Given the description of an element on the screen output the (x, y) to click on. 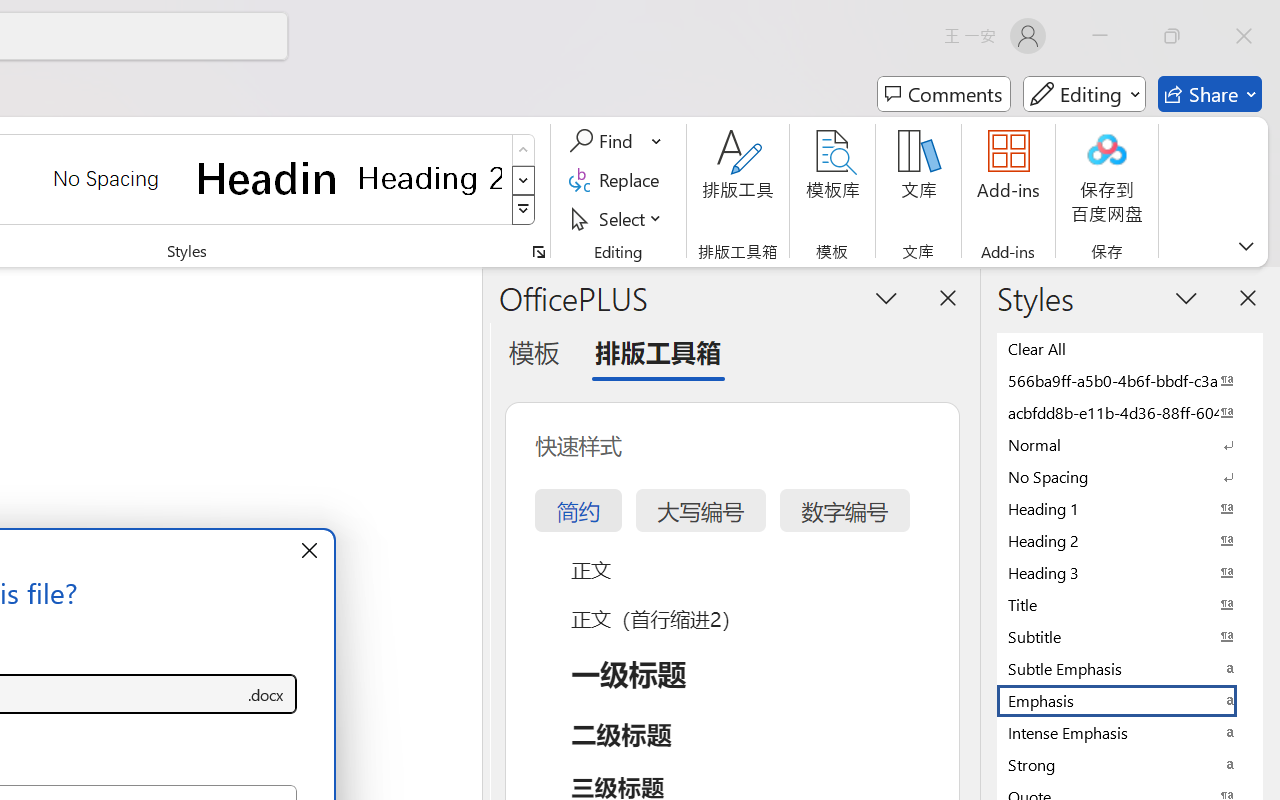
Heading 1 (267, 178)
Styles... (538, 252)
Row Down (523, 180)
Restore Down (1172, 36)
